Given the description of an element on the screen output the (x, y) to click on. 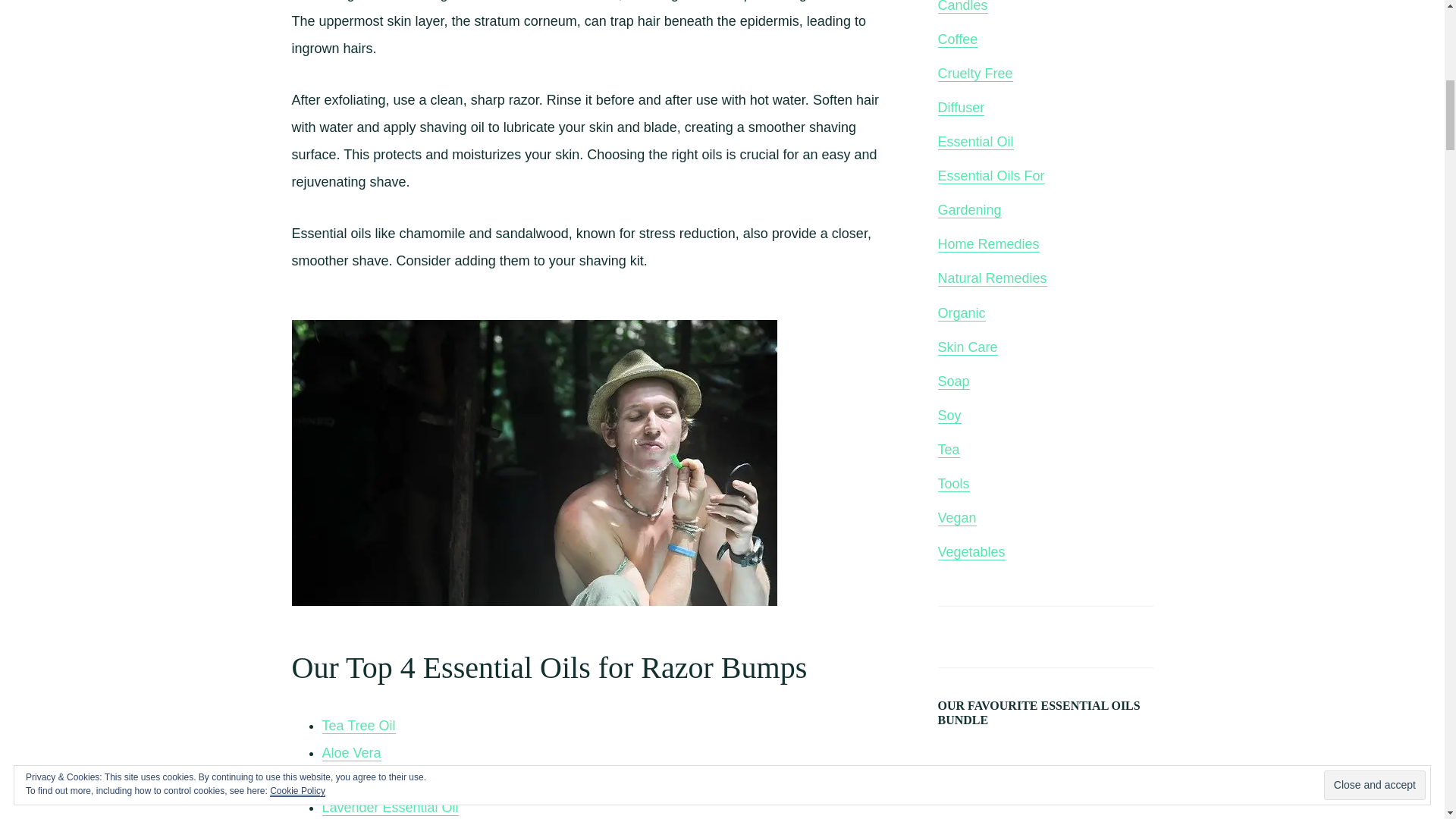
Lavender Essential Oil (389, 807)
Tea Tree Oil (357, 725)
Lemon Juice (359, 780)
Aloe Vera (350, 753)
